Given the description of an element on the screen output the (x, y) to click on. 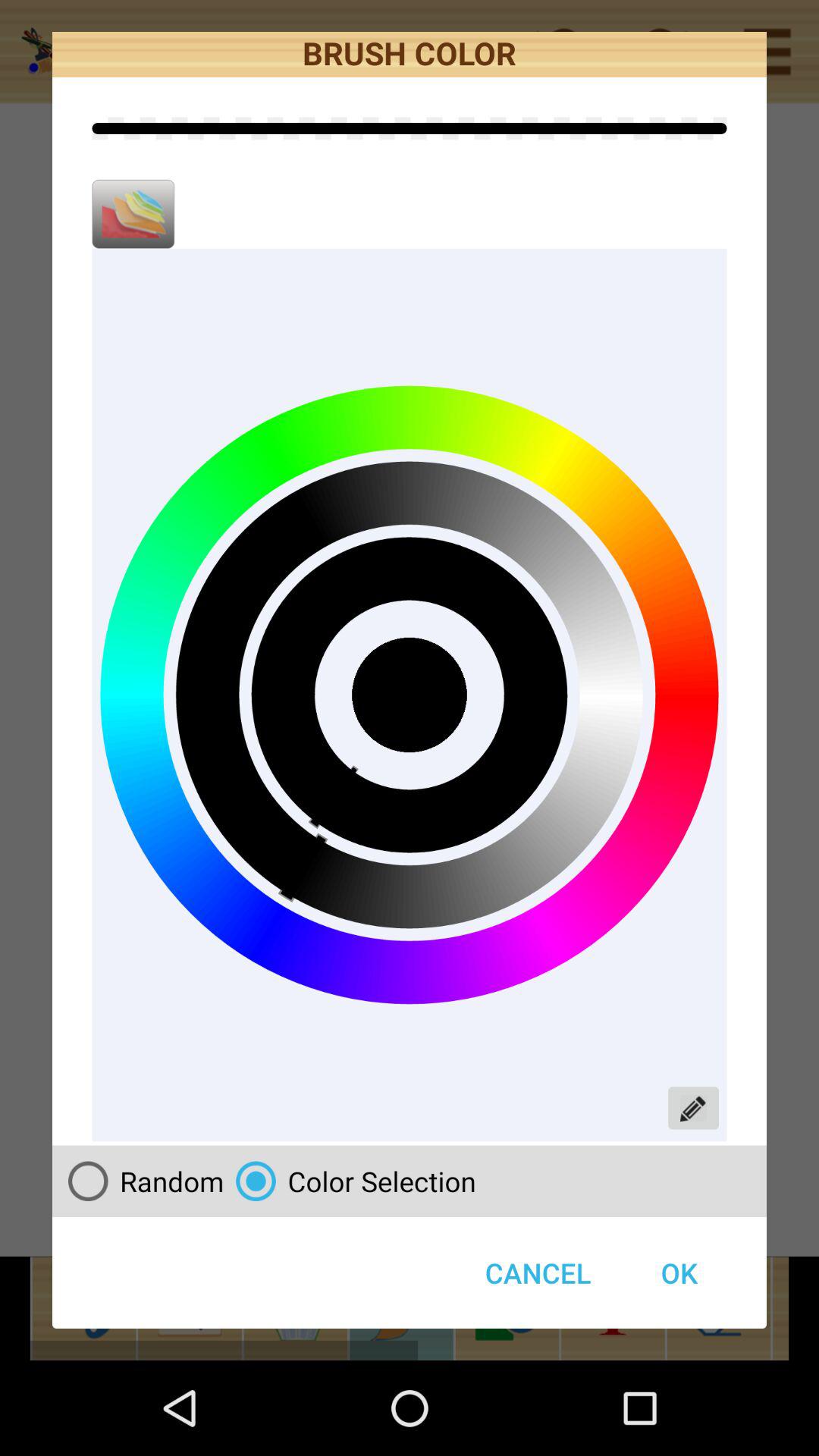
launch item to the left of color selection icon (140, 1181)
